Given the description of an element on the screen output the (x, y) to click on. 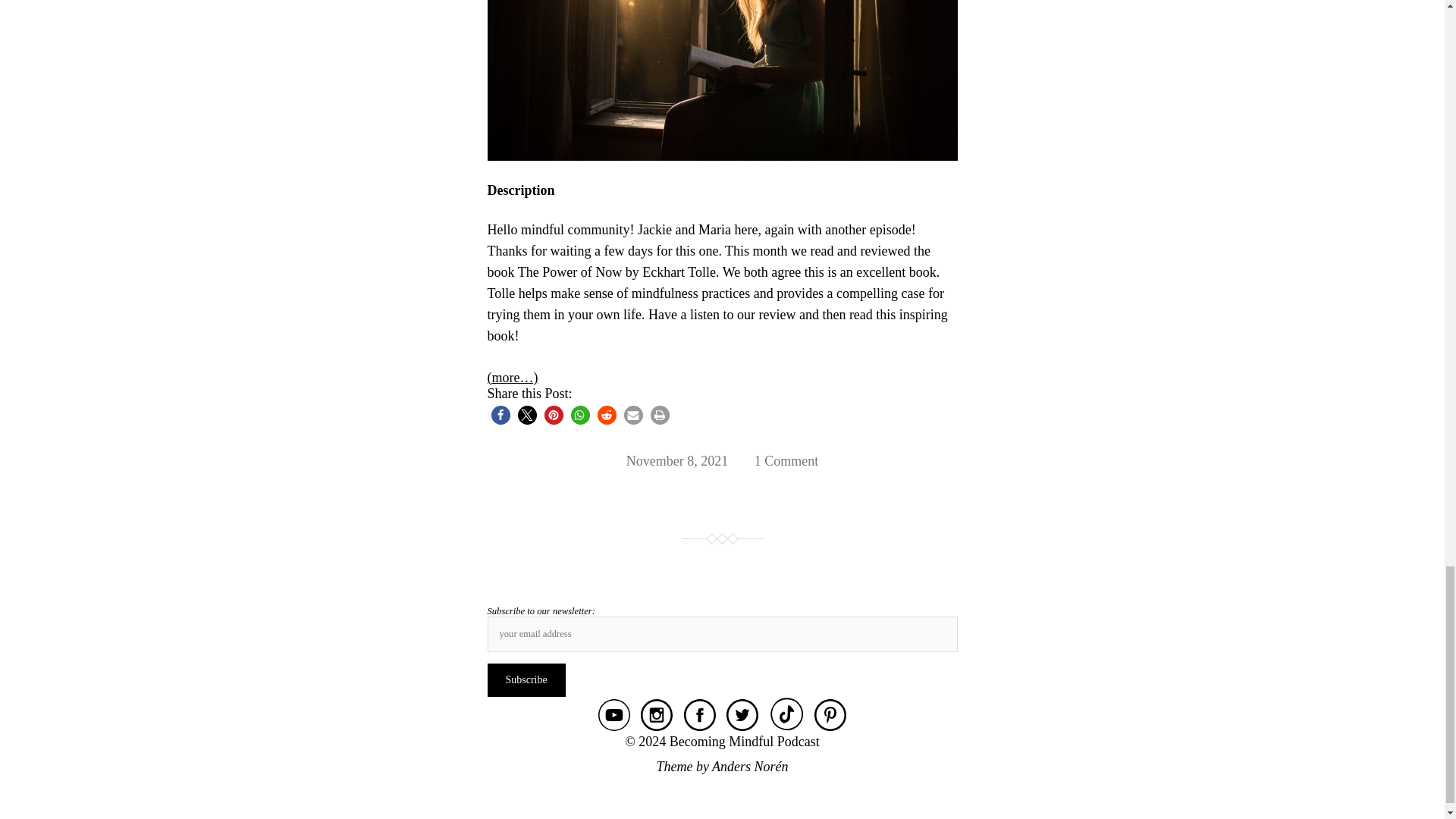
Subscribe (525, 679)
